Given the description of an element on the screen output the (x, y) to click on. 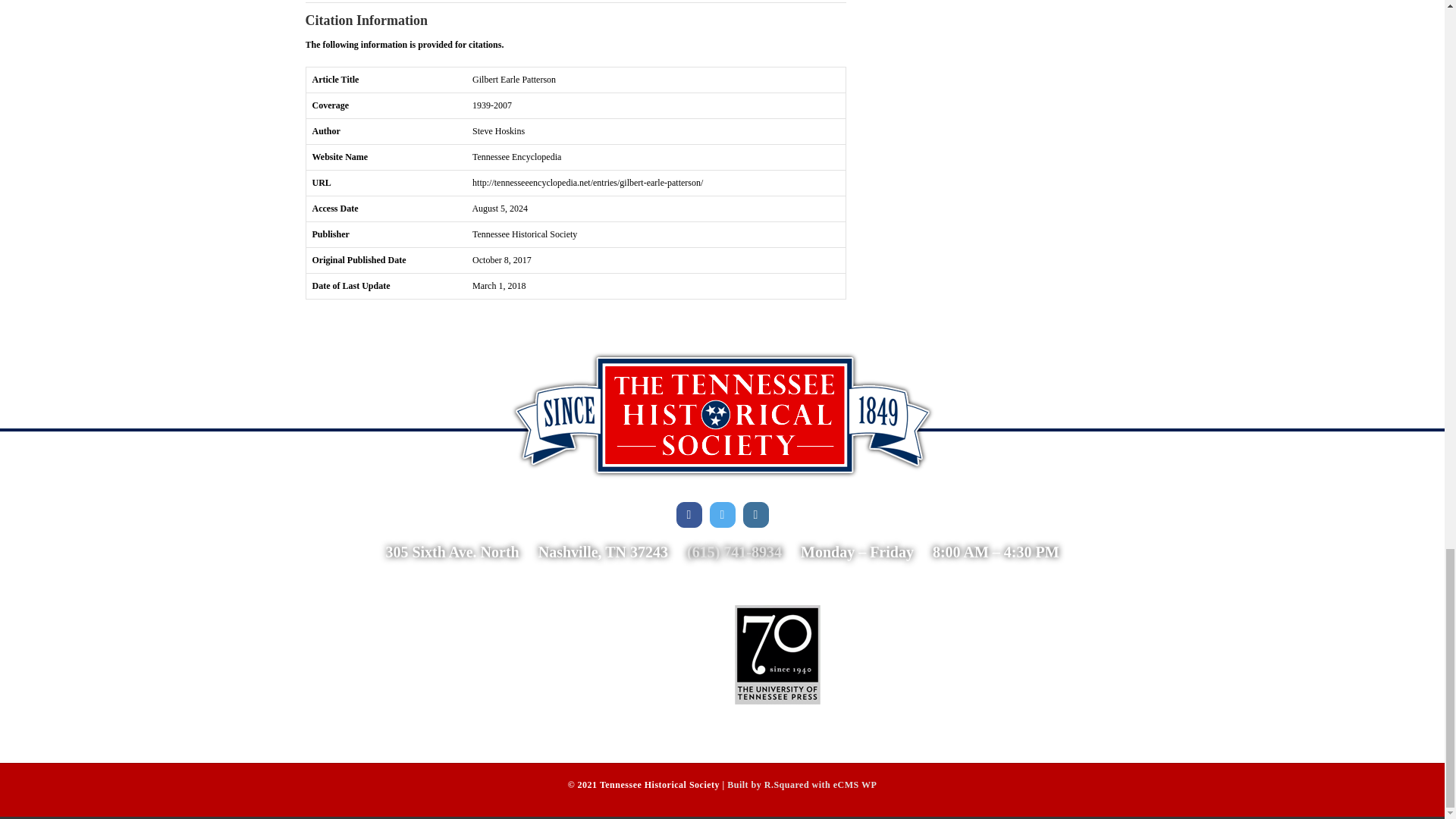
Facebook (689, 514)
Twitter (722, 514)
Instagram (755, 514)
